Given the description of an element on the screen output the (x, y) to click on. 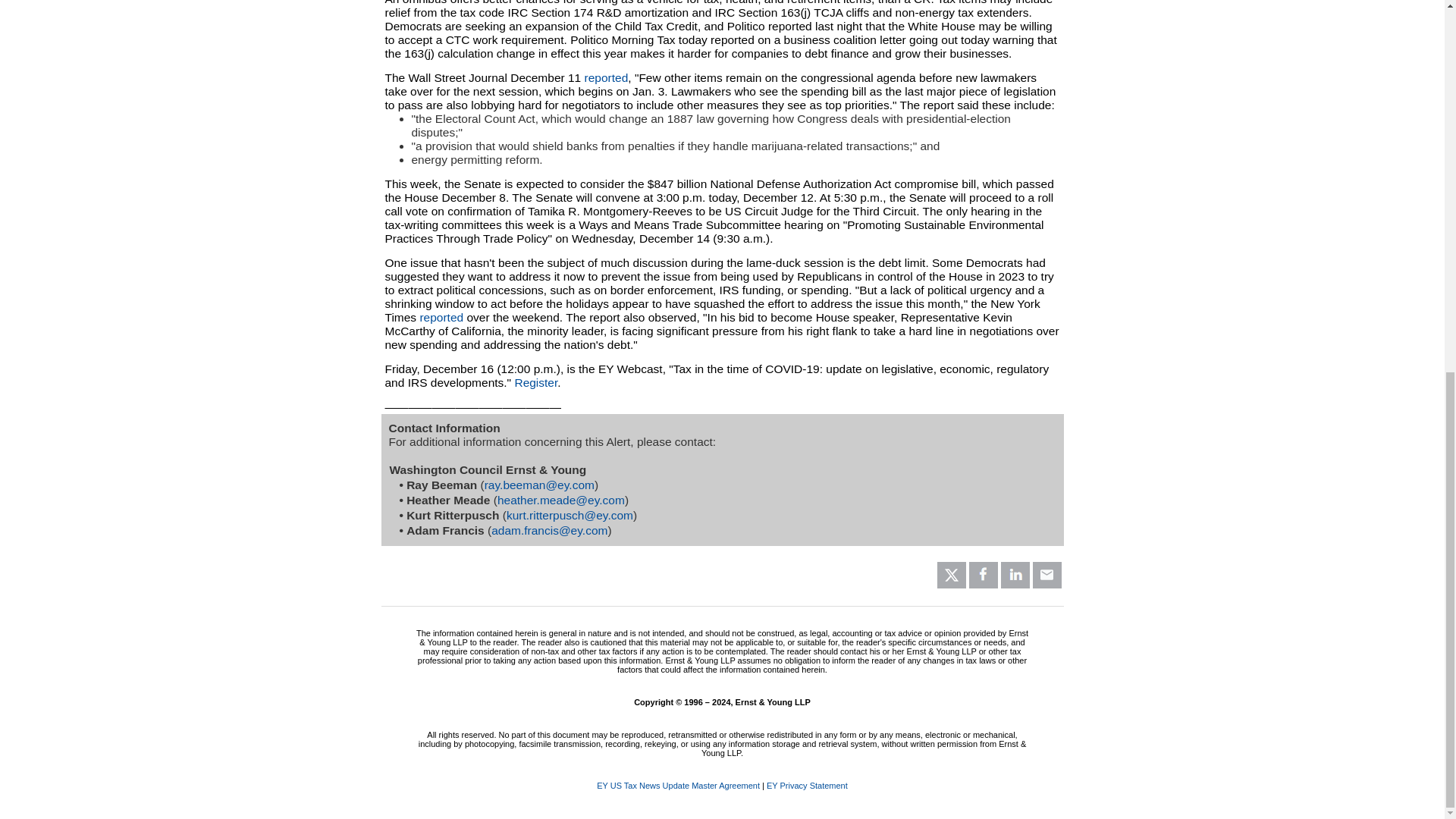
EY US Tax News Update Master Agreement (678, 785)
EY Privacy Statement (807, 785)
Register (535, 382)
reported (606, 77)
reported (441, 317)
